Given the description of an element on the screen output the (x, y) to click on. 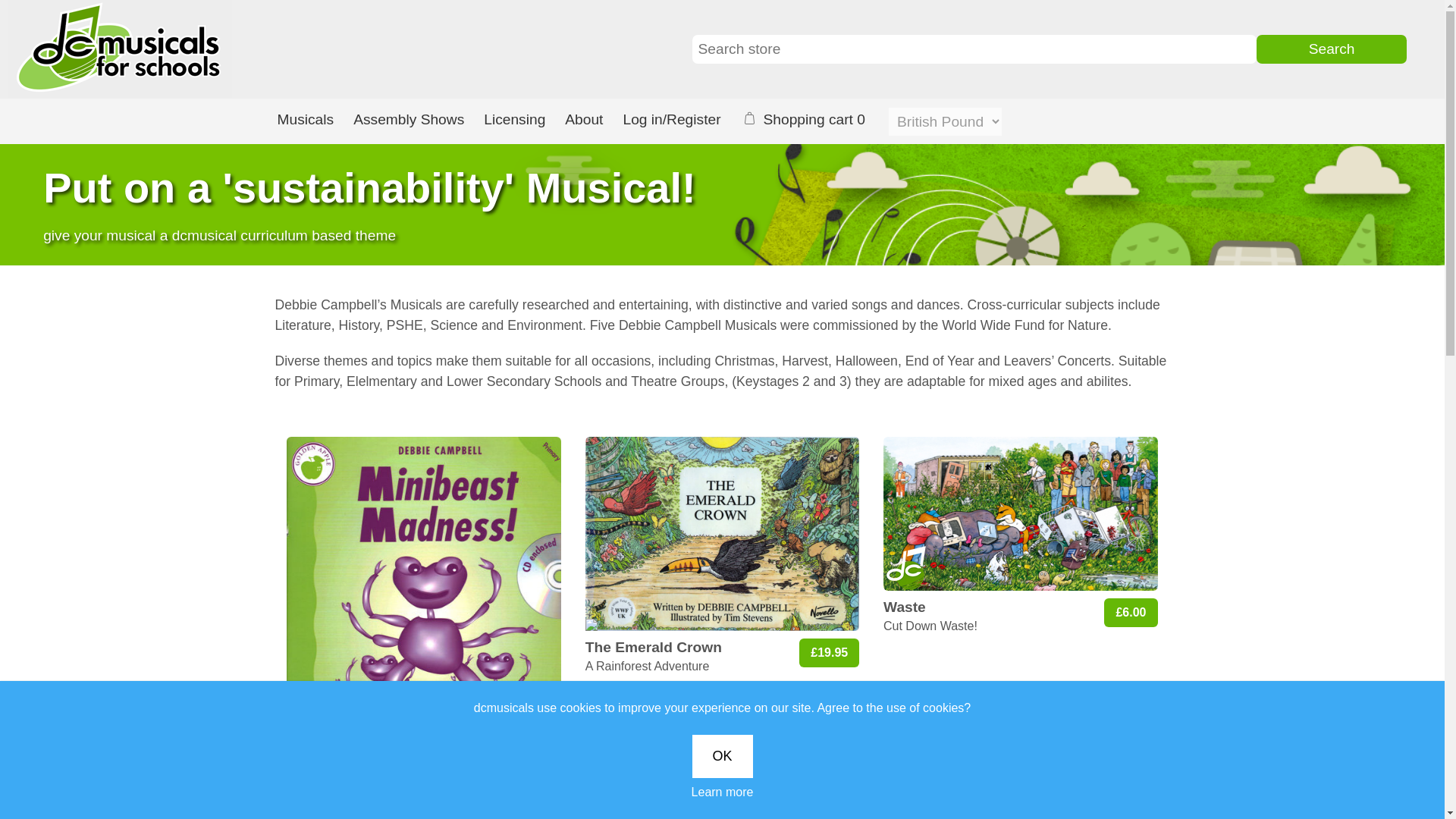
Licensing (514, 121)
About (583, 121)
Shopping cart 0 (809, 121)
Musicals (304, 121)
The Emerald Crown (722, 532)
Search (1331, 49)
Assembly Shows (408, 121)
Search (1331, 49)
Search (1331, 49)
